Given the description of an element on the screen output the (x, y) to click on. 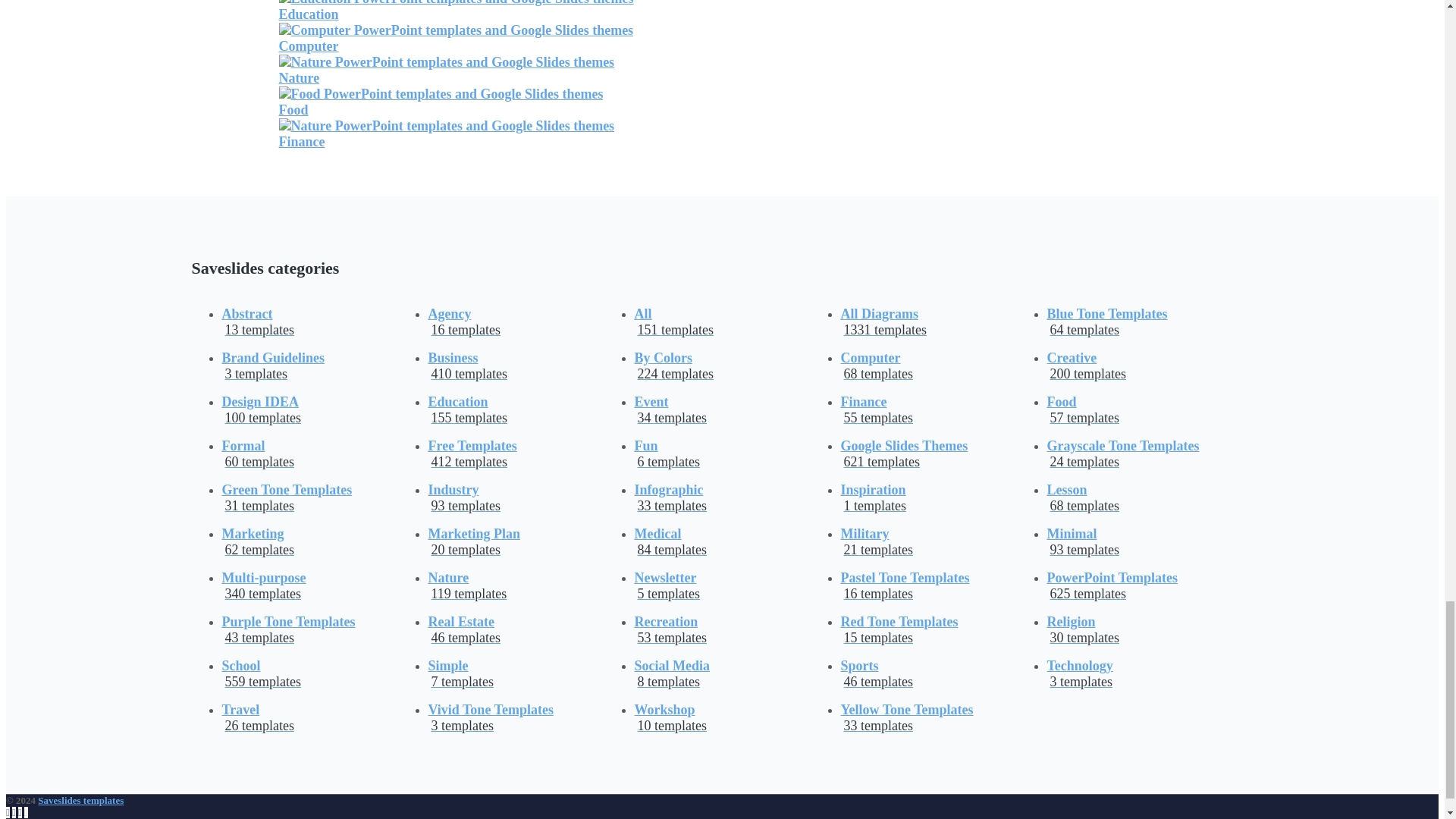
 Best website where you can find free PowerPoint Templates (80, 799)
Science PowerPoint templates and Google Slides themes (456, 38)
Food PowerPoint templates and Google Slides themes (441, 101)
Finance PowerPoint templates and Google Slides themes (446, 133)
Education PowerPoint templates and Google Slides themes (456, 11)
Tech PowerPoint templates and Google Slides themes (446, 69)
